Given the description of an element on the screen output the (x, y) to click on. 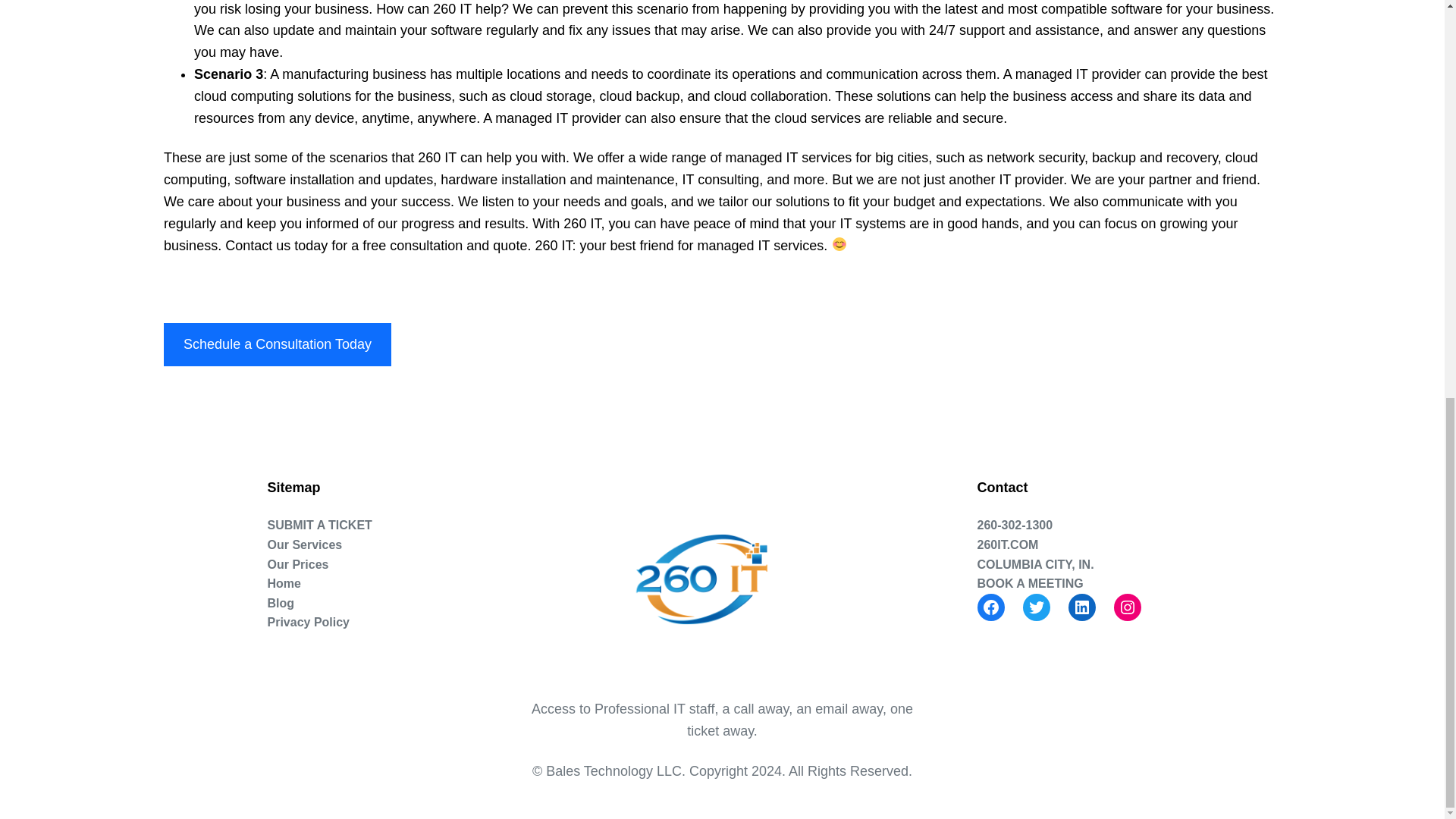
Our Prices (297, 564)
SUBMIT A TICKET (318, 525)
Privacy Policy (307, 622)
Facebook (990, 606)
Schedule a Consultation Today (277, 344)
Our Services (304, 545)
260-302-1300 (1014, 525)
260IT.COM (1007, 545)
Home (282, 583)
Blog (280, 603)
COLUMBIA CITY, IN. (1034, 564)
BOOK A MEETING (1029, 583)
